Given the description of an element on the screen output the (x, y) to click on. 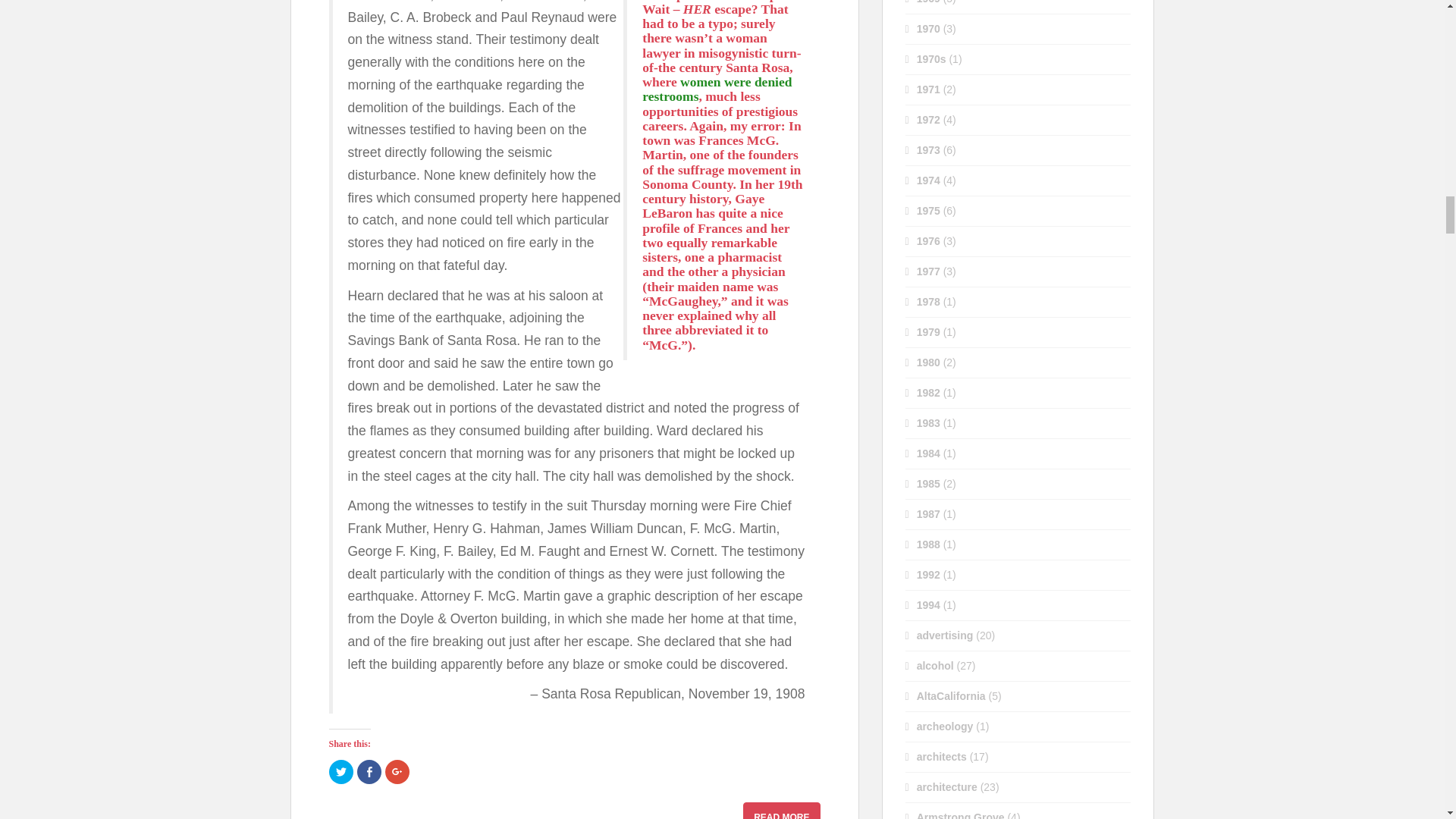
READ MORE (780, 810)
Share on Facebook (368, 771)
Click to share on Twitter (341, 771)
women were denied restrooms (717, 89)
MORE EYEWITNESS ACCOUNTS OF THE 1906 EARTHQUAKE (780, 810)
